Given the description of an element on the screen output the (x, y) to click on. 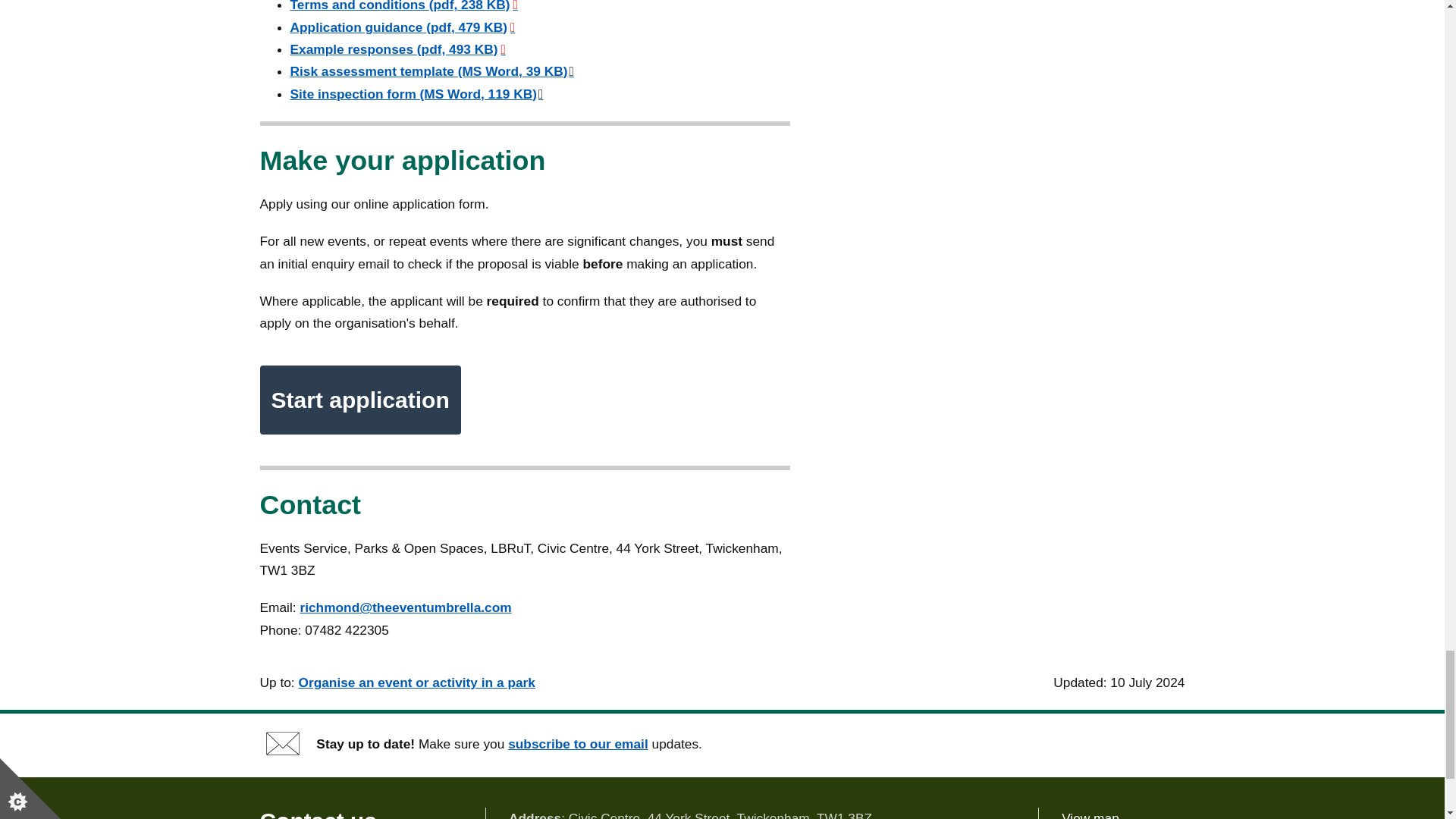
Example Responses Supplementary Information (397, 48)
Hire Of Council Owned Or Managed Land Application Guidance (402, 27)
Hire Of Council Land Terms And Conditions (403, 6)
Pre And Post Event Site Self Inspection Form (416, 93)
Park Hire Risk Assessment Template (431, 70)
